Given the description of an element on the screen output the (x, y) to click on. 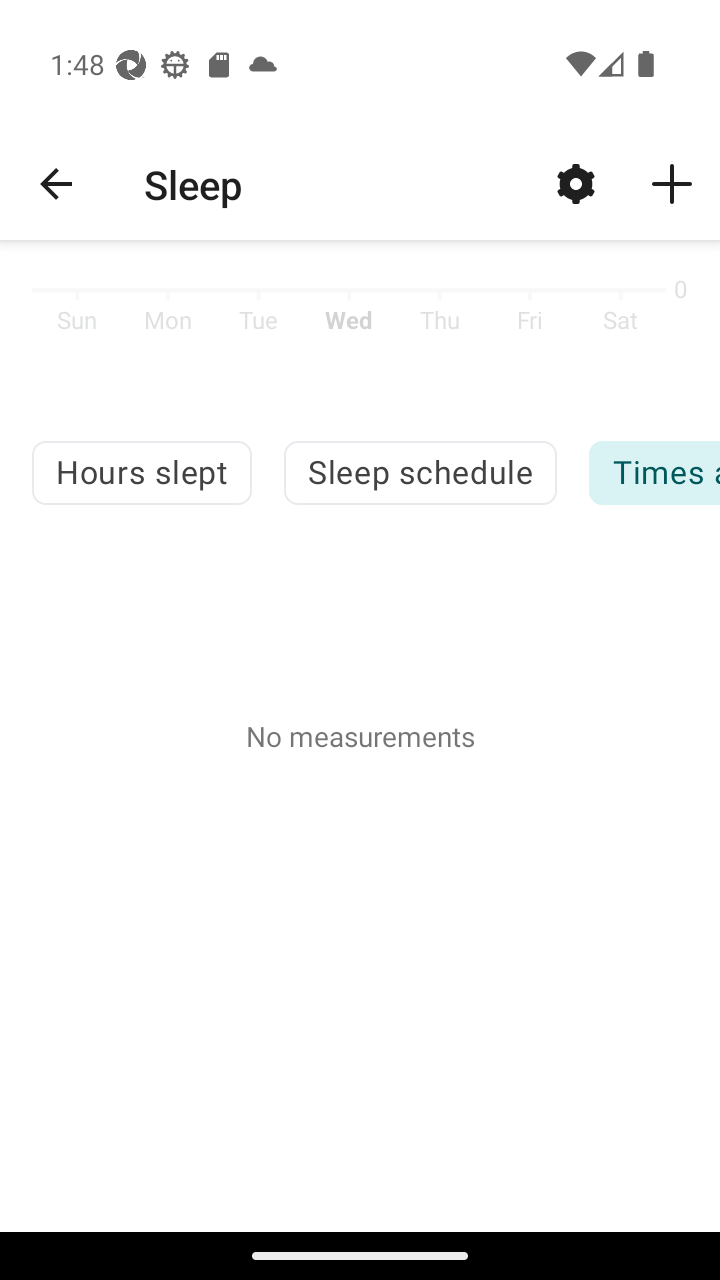
Navigate up (56, 184)
Adjust your goal (575, 183)
Tap to track sleep or
 log a past record (672, 183)
Hours slept (141, 472)
Sleep schedule (420, 472)
Times awakened (654, 472)
